Given the description of an element on the screen output the (x, y) to click on. 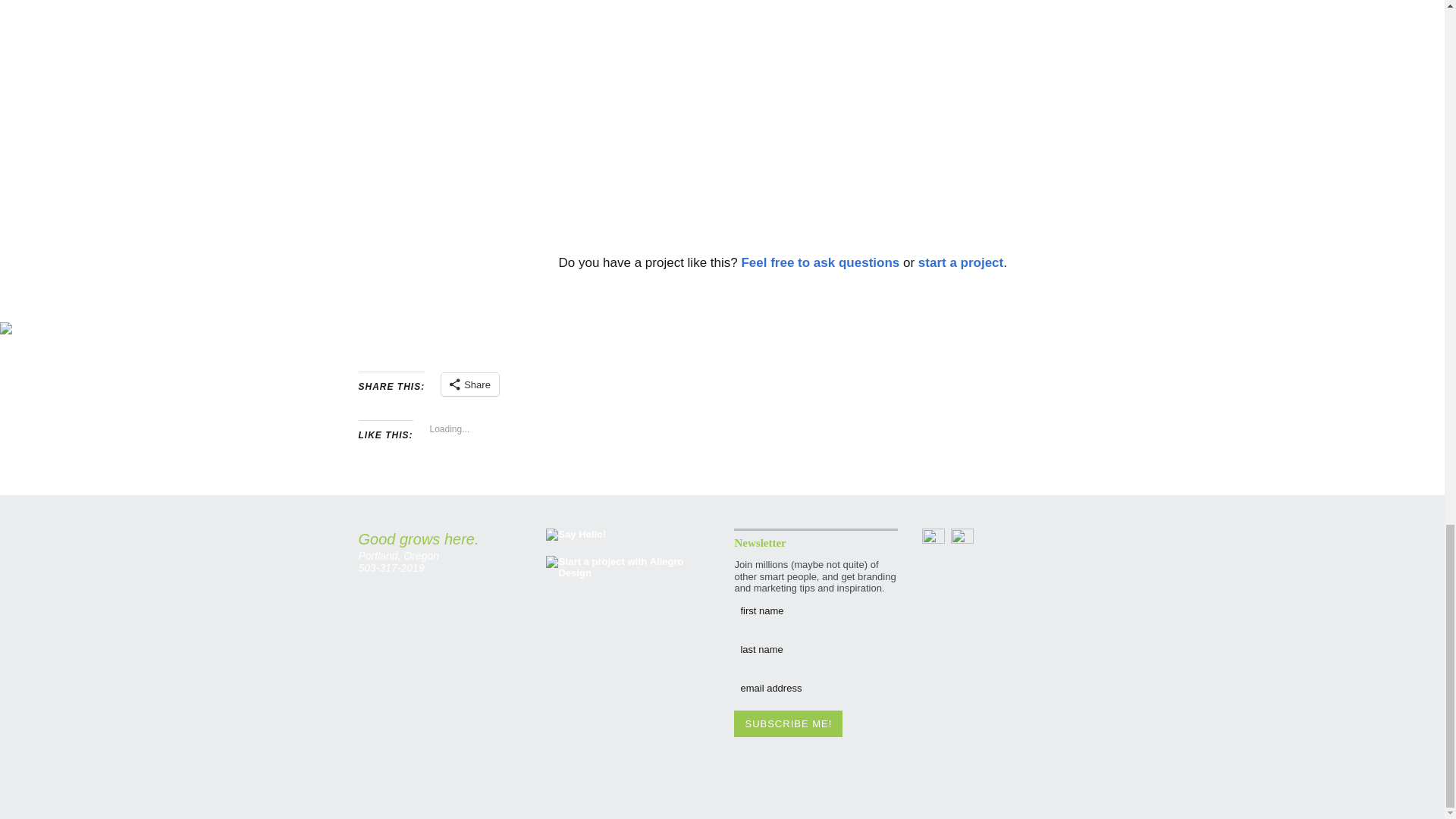
Subscribe Me! (788, 723)
start a project (960, 262)
Say hello (575, 534)
Feel free to ask questions (820, 262)
Subscribe Me! (788, 723)
Share (470, 384)
Start a Project button (628, 567)
